Given the description of an element on the screen output the (x, y) to click on. 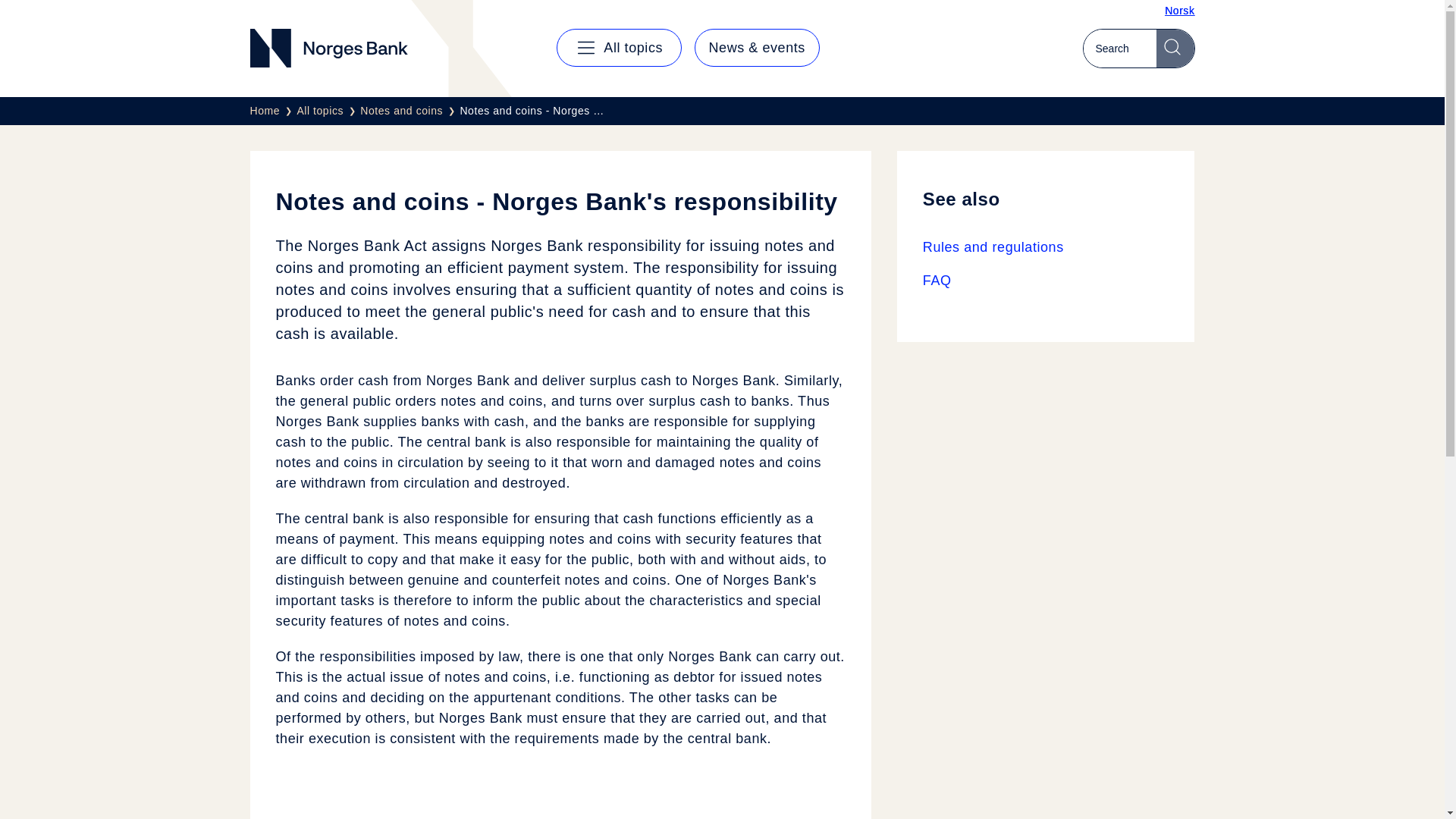
Notes and coins (409, 110)
Notes and coins - Norges Bank's responsibility (532, 110)
All topics (618, 47)
Norsk (1178, 10)
Search (1174, 48)
Home (273, 110)
All topics (328, 110)
FAQ (1046, 281)
Notes and coins (409, 110)
Home (273, 110)
